Given the description of an element on the screen output the (x, y) to click on. 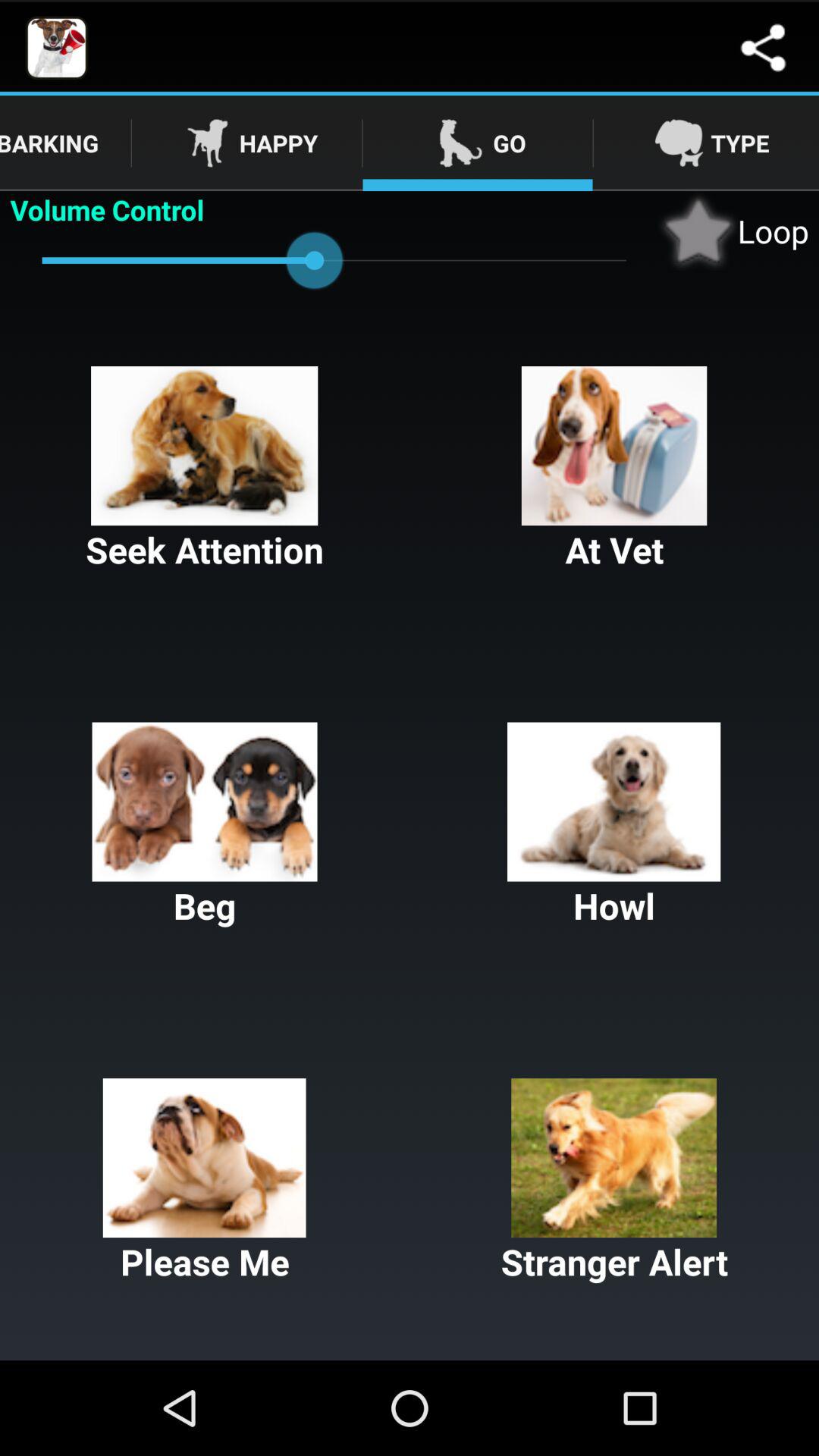
click the please me at the bottom left corner (204, 1181)
